Given the description of an element on the screen output the (x, y) to click on. 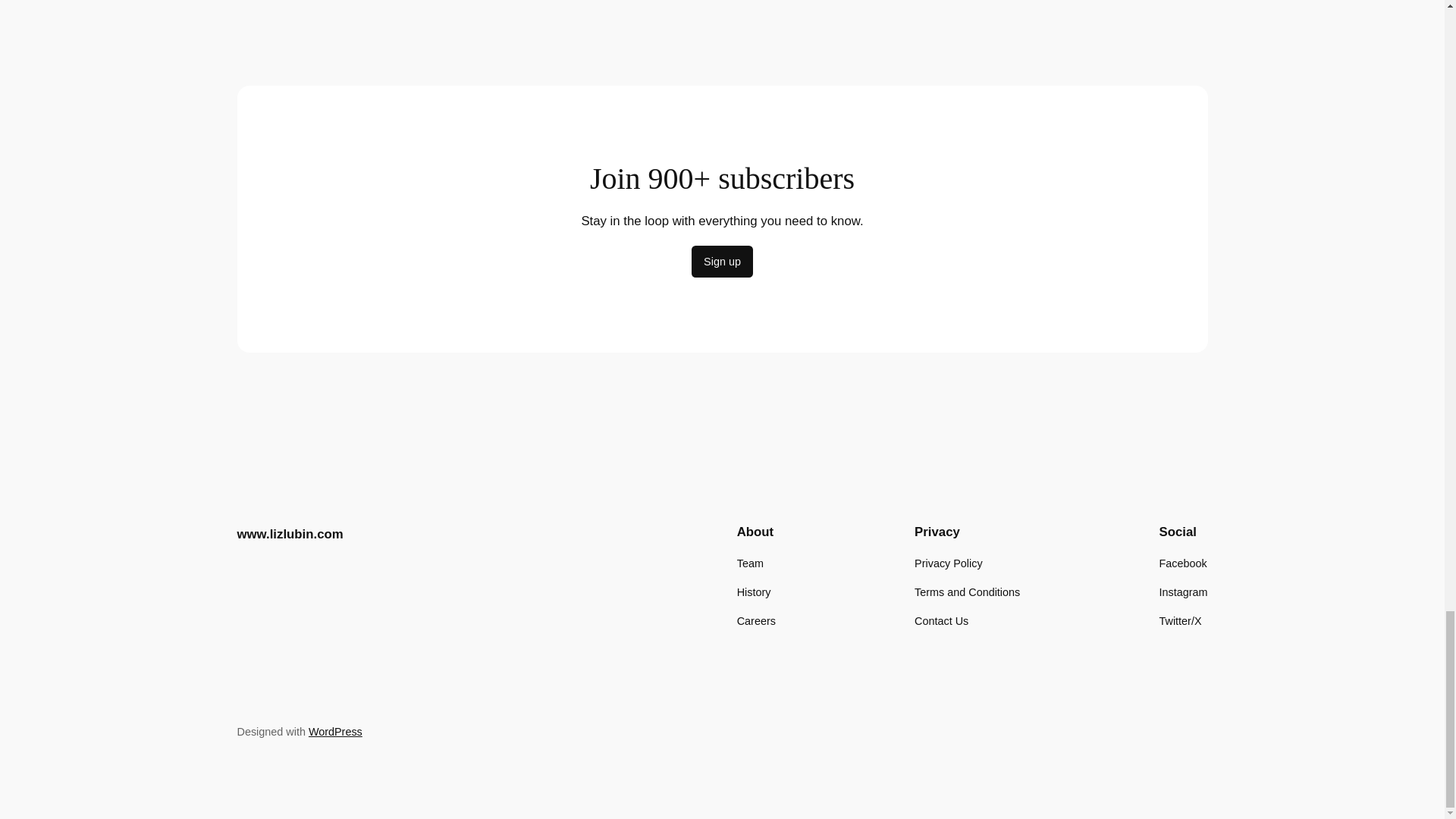
History (753, 591)
Facebook (1182, 563)
Sign up (721, 261)
Instagram (1182, 591)
Contact Us (941, 620)
Team (749, 563)
Careers (756, 620)
Terms and Conditions (967, 591)
www.lizlubin.com (288, 534)
Privacy Policy (948, 563)
WordPress (335, 731)
